Given the description of an element on the screen output the (x, y) to click on. 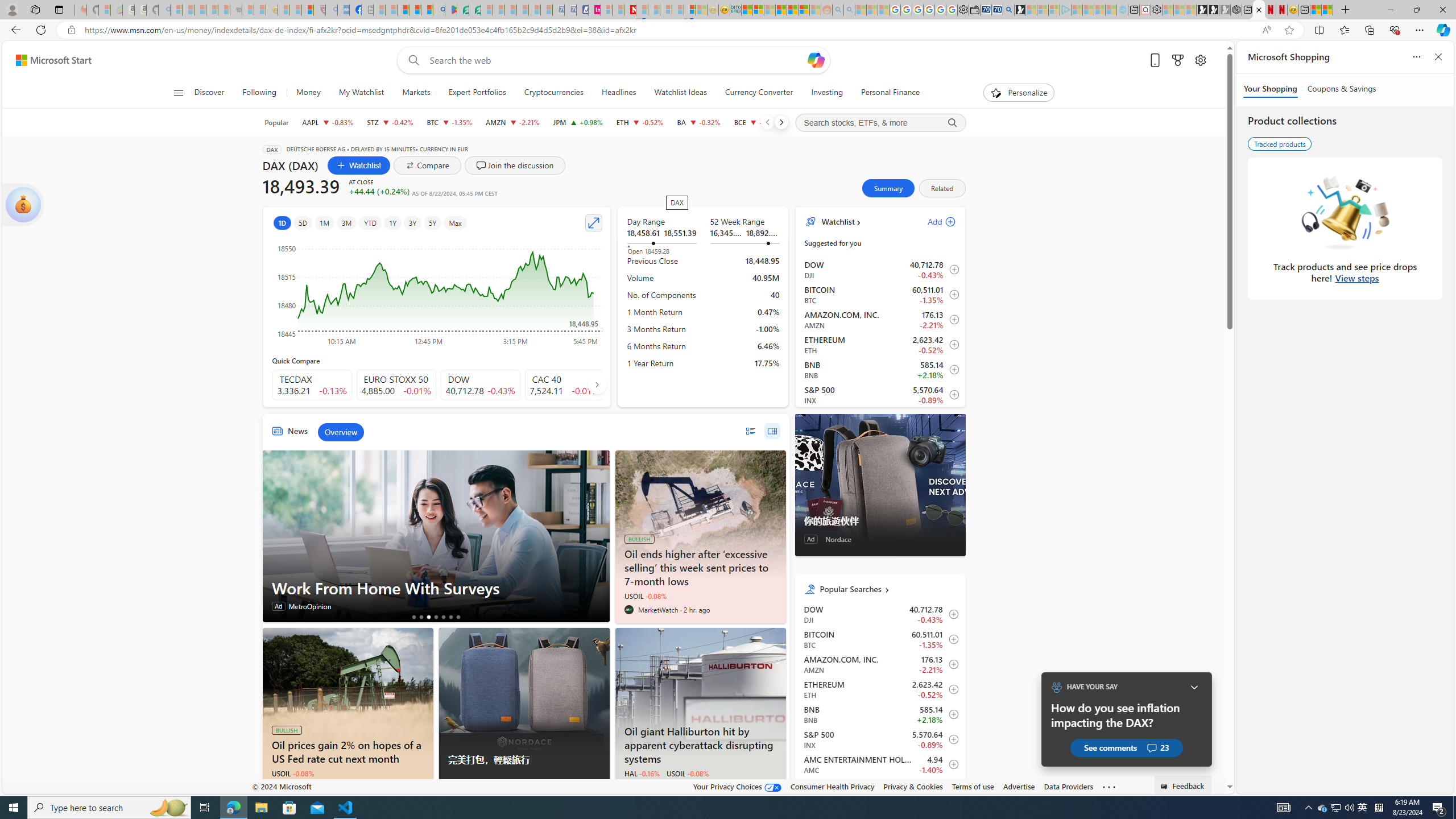
AutomationID: finance_carousel_navi_right (596, 384)
Personal Finance (890, 92)
BTC Bitcoin decrease 60,511.01 -814.48 -1.35% itemundefined (879, 638)
Search stocks, ETFs, & more (880, 122)
Next (780, 122)
Headlines (618, 92)
3Y (412, 223)
